Given the description of an element on the screen output the (x, y) to click on. 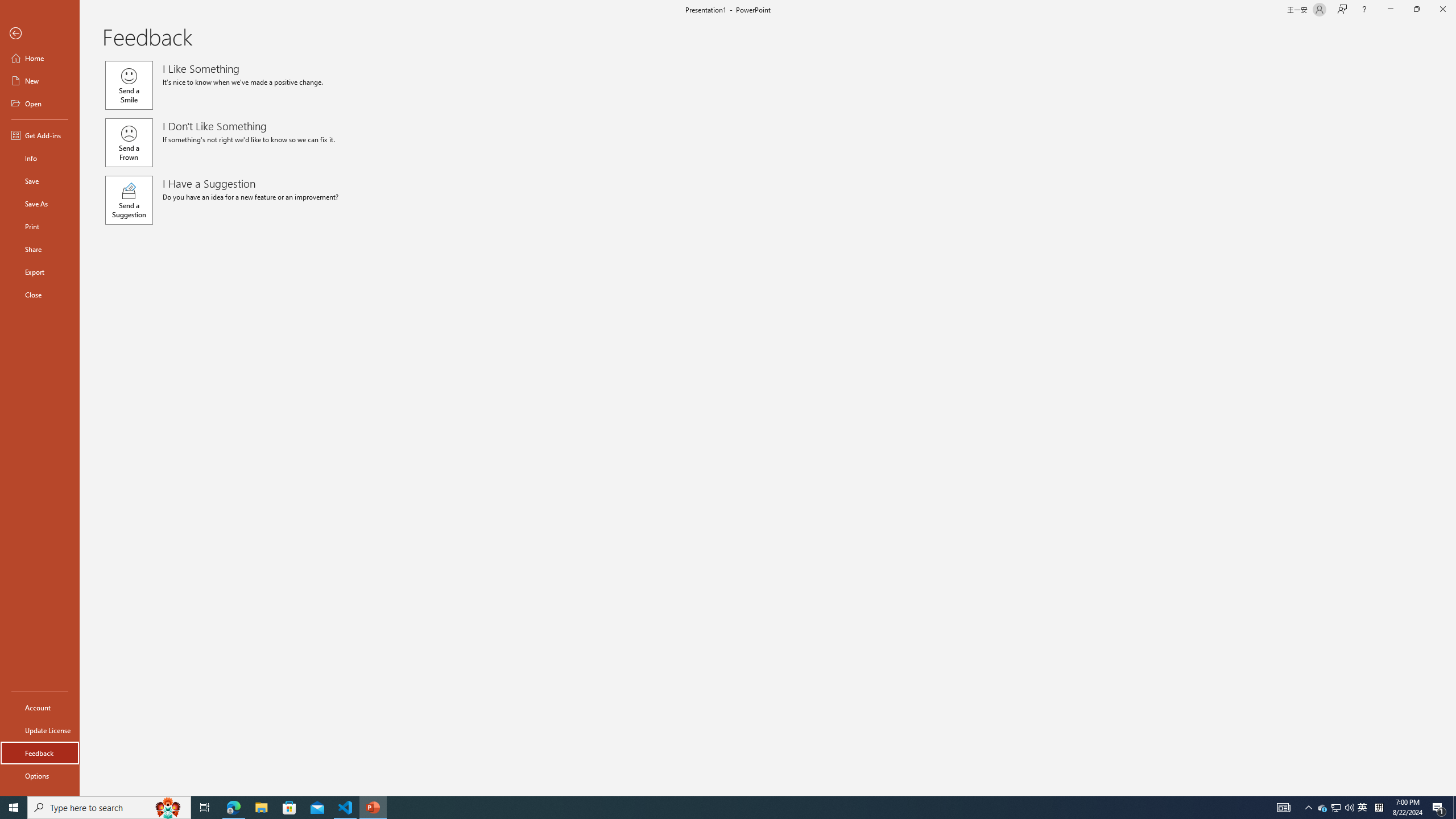
Info (40, 157)
Send a Suggestion (128, 200)
Send a Frown (128, 142)
Export (40, 271)
Save As (40, 203)
Open (40, 102)
Back (40, 33)
Account (40, 707)
